Given the description of an element on the screen output the (x, y) to click on. 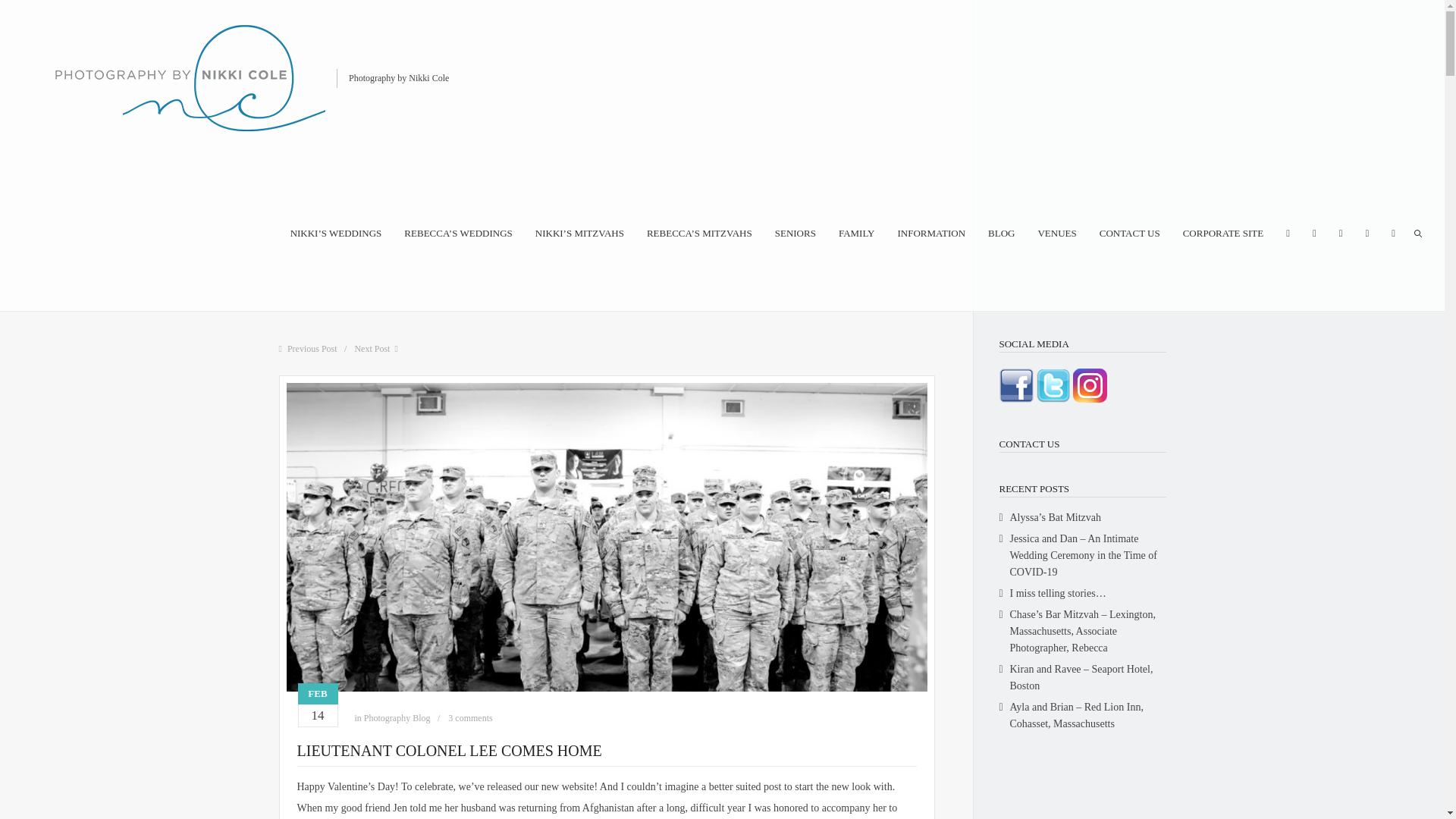
CORPORATE SITE (1222, 232)
VENUES (1055, 232)
INFORMATION (930, 232)
CONTACT US (1129, 232)
FAMILY (856, 232)
SENIORS (794, 232)
